Given the description of an element on the screen output the (x, y) to click on. 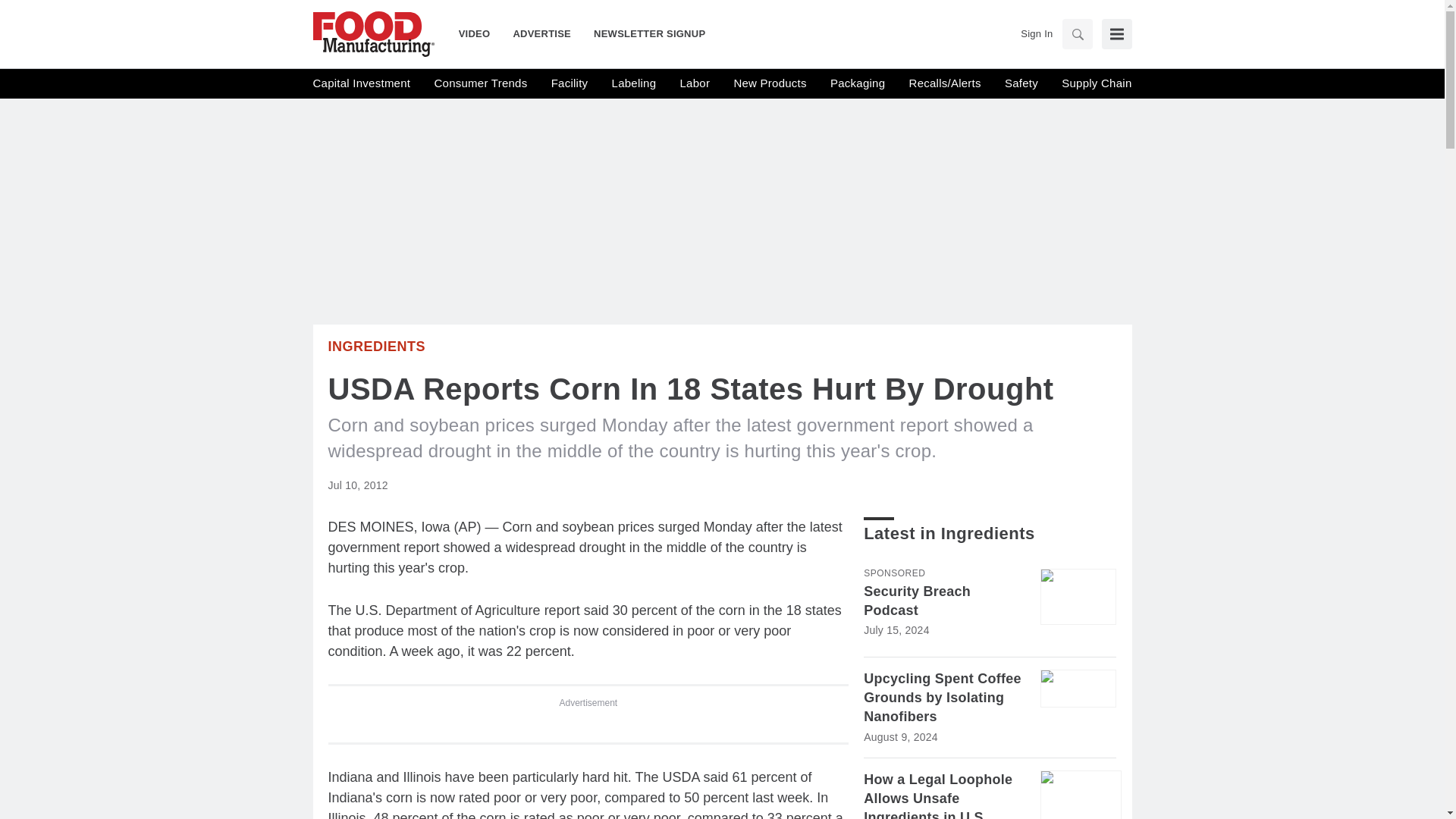
Ingredients (376, 346)
New Products (769, 83)
Labeling (633, 83)
NEWSLETTER SIGNUP (643, 33)
Labor (694, 83)
VIDEO (480, 33)
Sponsored (893, 573)
Consumer Trends (480, 83)
Safety (1021, 83)
Packaging (857, 83)
